Given the description of an element on the screen output the (x, y) to click on. 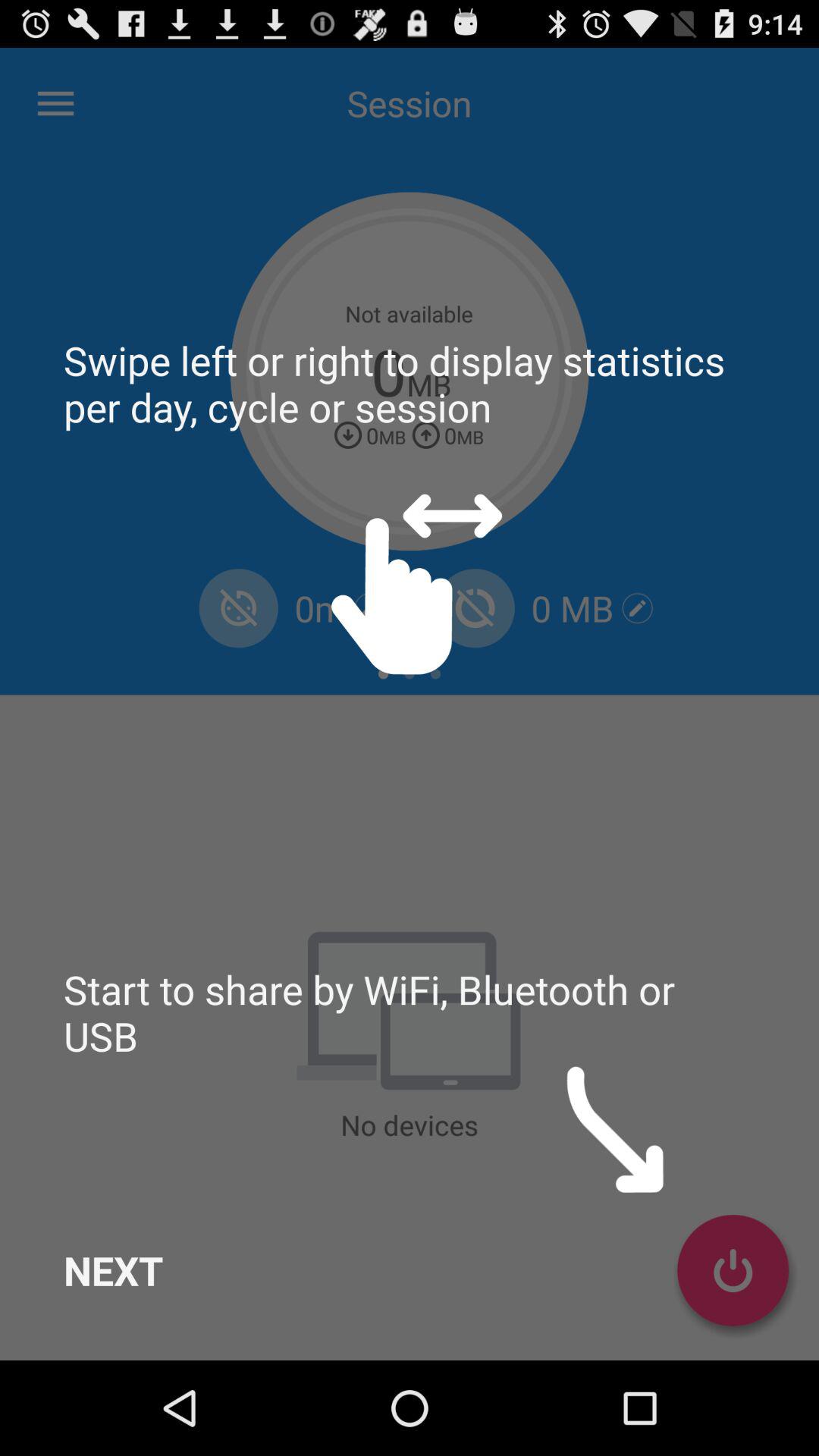
launch the icon below the start to share (113, 1270)
